Given the description of an element on the screen output the (x, y) to click on. 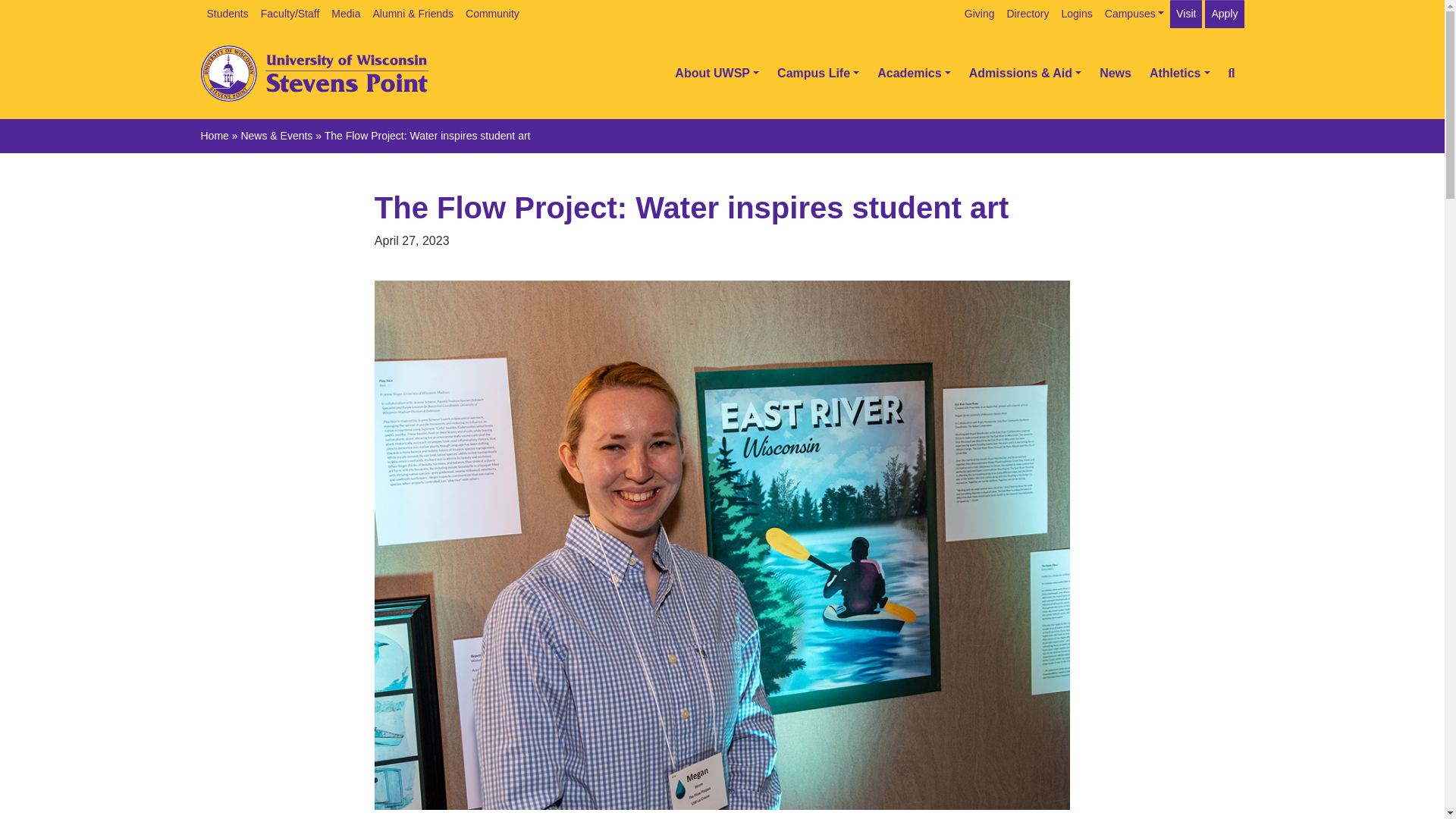
About UWSP (716, 73)
Directory (1028, 13)
Apply (1224, 13)
Campuses (1134, 13)
Giving (979, 13)
Campus Life (817, 73)
Logins (1077, 13)
Visit (1186, 13)
Community (492, 13)
Media (345, 13)
